Given the description of an element on the screen output the (x, y) to click on. 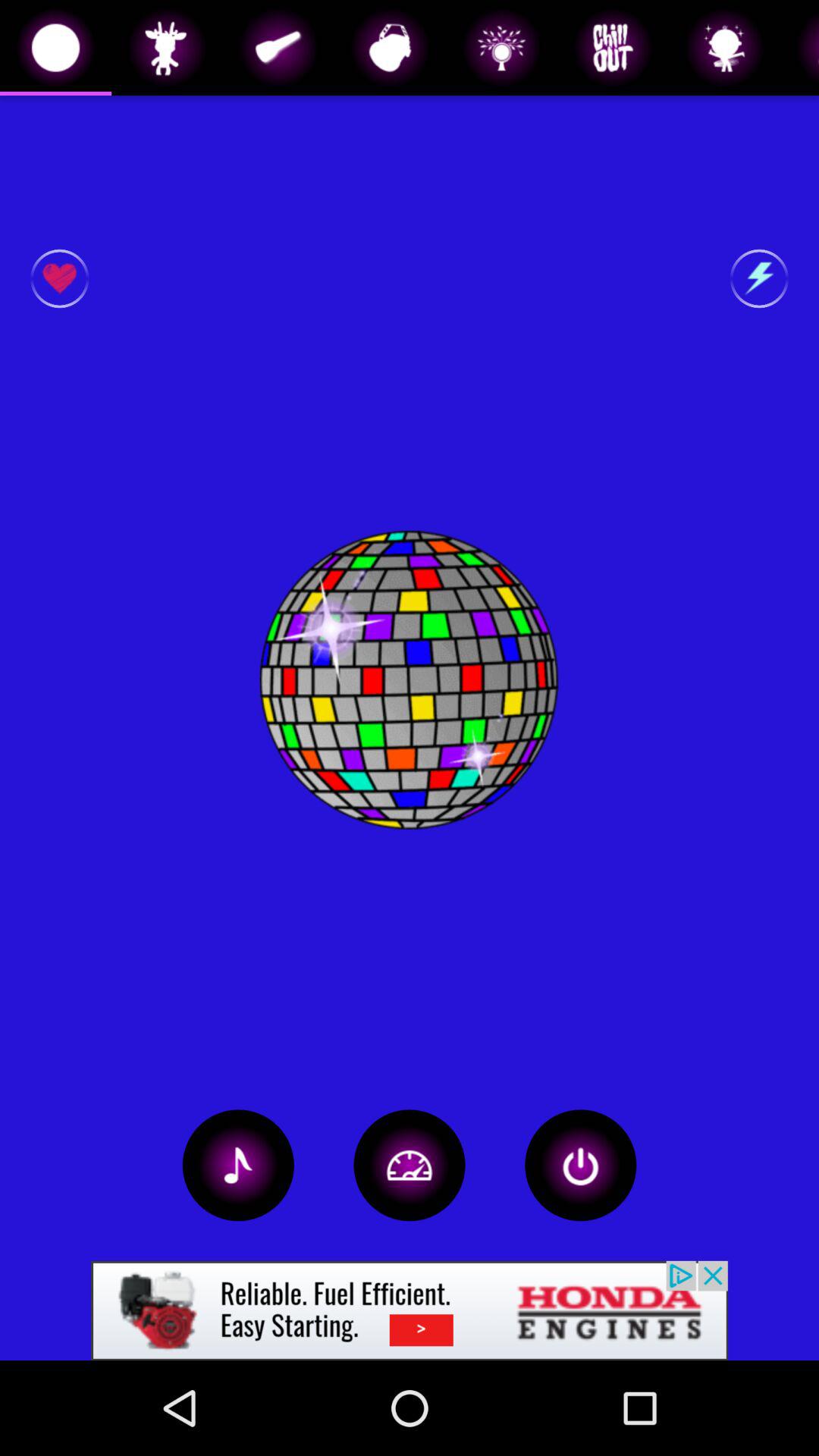
play music (238, 1165)
